Given the description of an element on the screen output the (x, y) to click on. 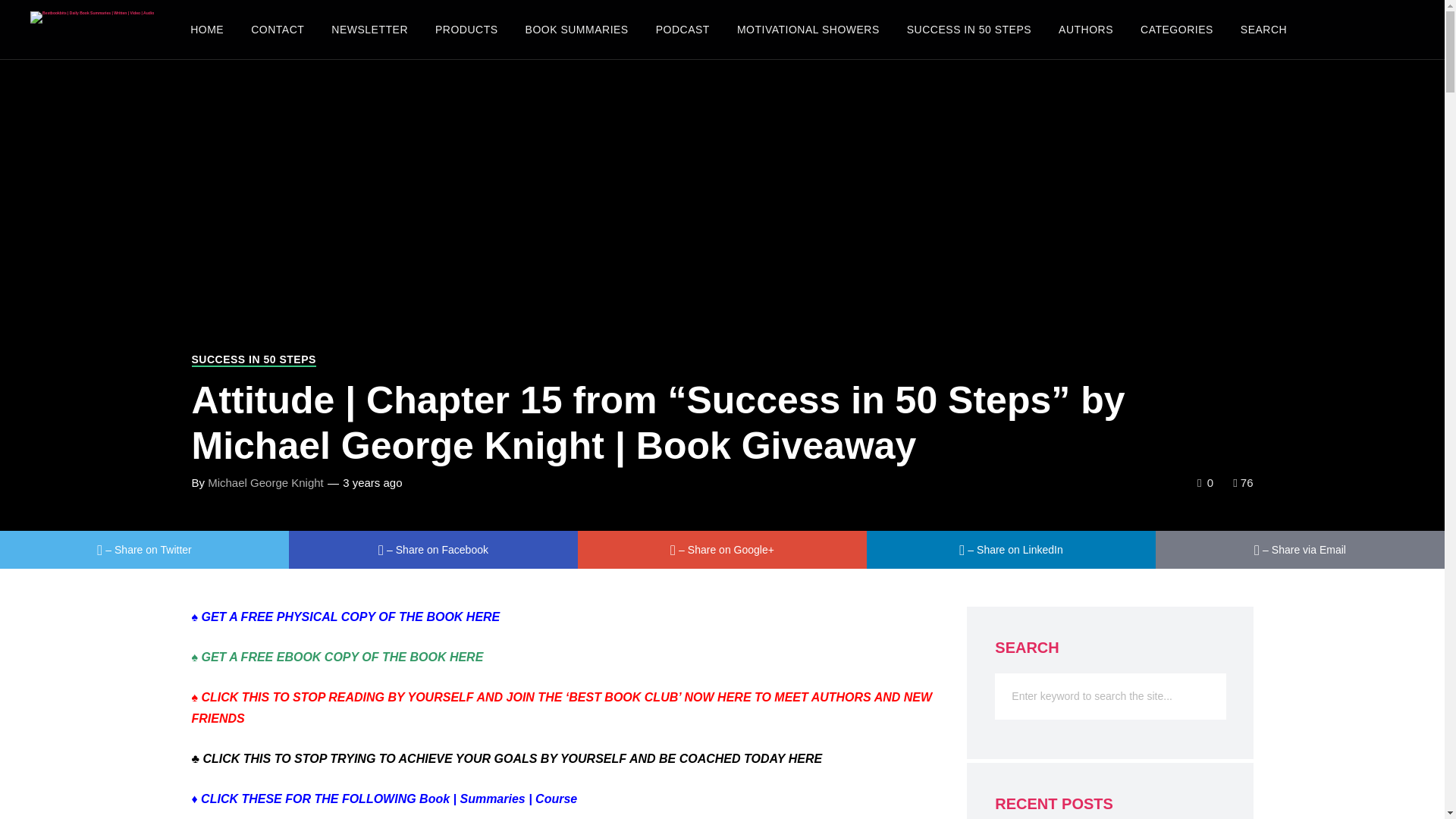
Twitter (144, 549)
Share on LinkedIn (1011, 549)
CONTACT (277, 29)
AUTHORS (1085, 29)
PRODUCTS (467, 29)
NEWSLETTER (369, 29)
BOOK SUMMARIES (577, 29)
CATEGORIES (1176, 29)
SUCCESS IN 50 STEPS (969, 29)
Search (1263, 29)
